Given the description of an element on the screen output the (x, y) to click on. 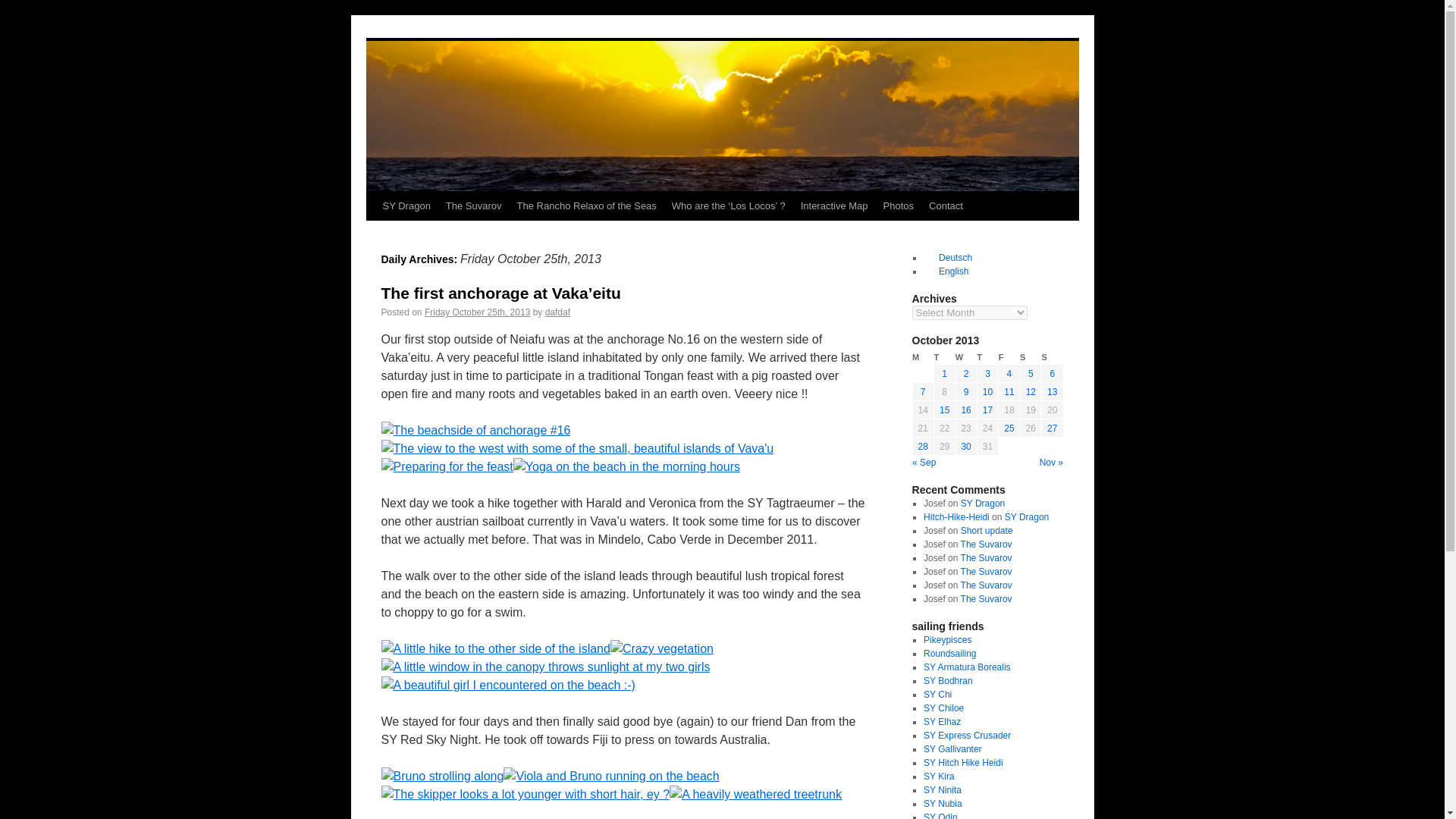
01:58 AM (477, 312)
Wednesday (965, 357)
Deutsch (947, 257)
Thursday (986, 357)
View all posts by dafdaf (557, 312)
Contact (946, 205)
English (945, 271)
Deutsch (947, 257)
Photos (898, 205)
The Rancho Relaxo of the Seas (586, 205)
